Given the description of an element on the screen output the (x, y) to click on. 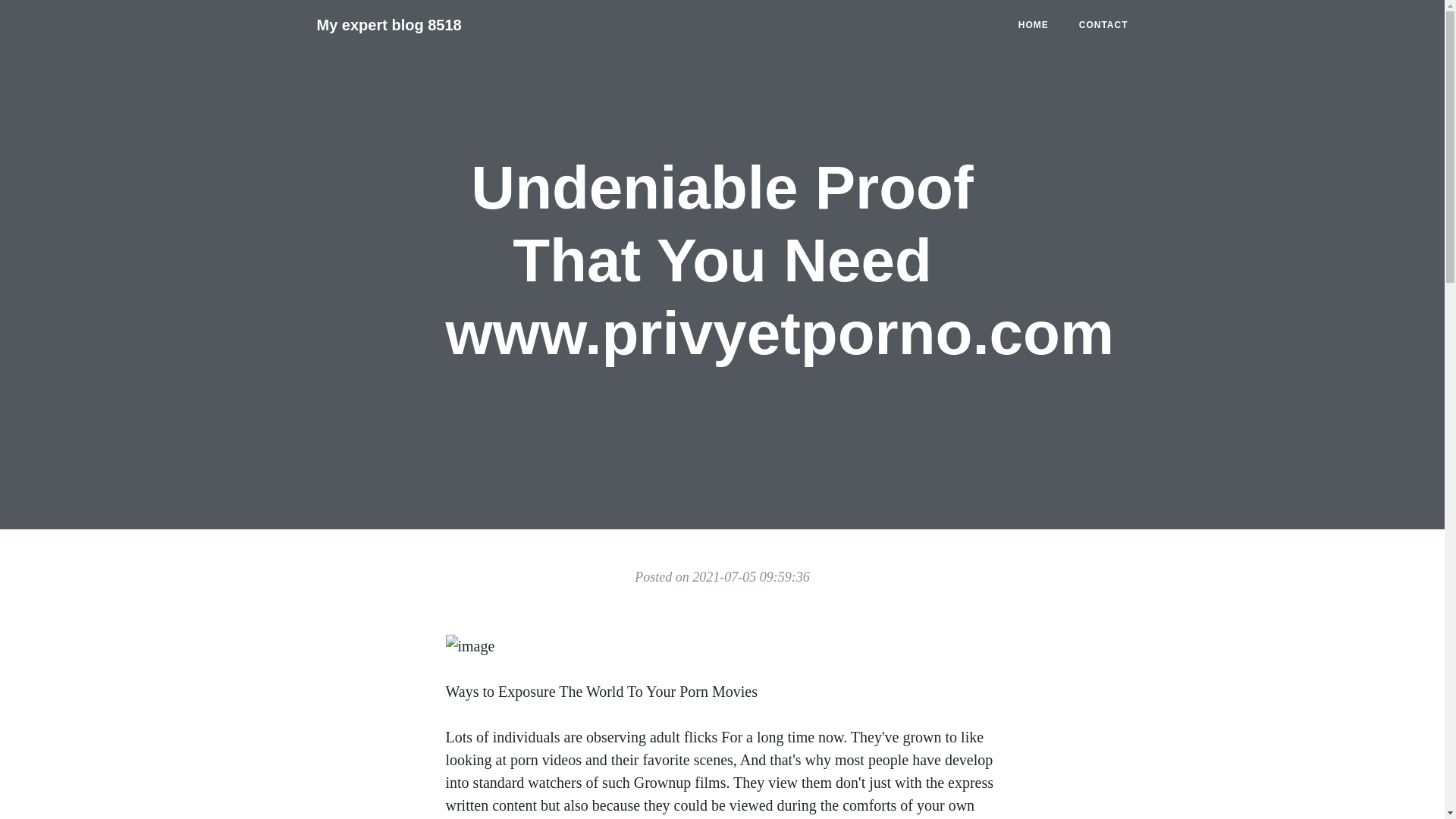
My expert blog 8518 (389, 24)
HOME (1033, 24)
CONTACT (1103, 24)
